Given the description of an element on the screen output the (x, y) to click on. 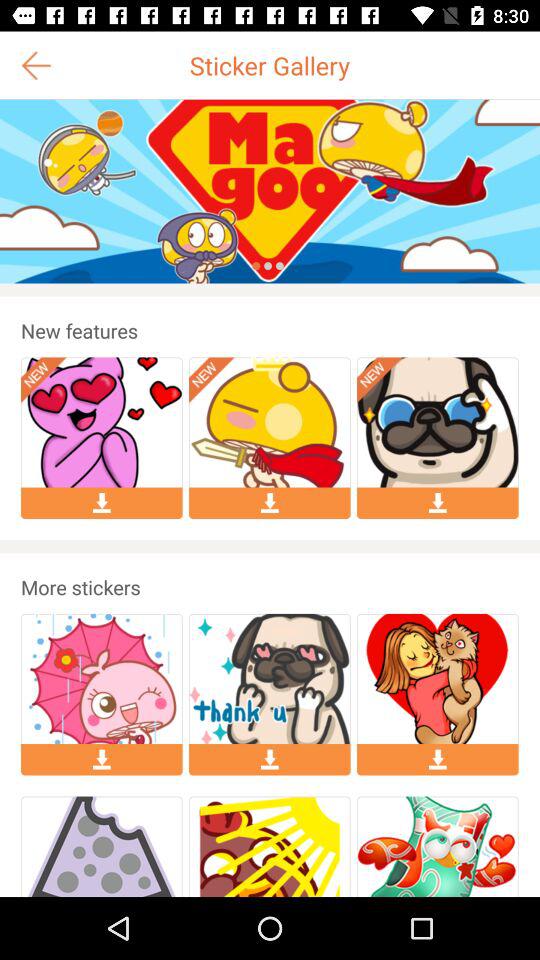
select the first row second image (270, 422)
select the last image of the page (437, 846)
select the first image under the text more stickers (102, 679)
go to the arrow below the first image under more stickers (101, 759)
select the first row third image in the more stickers category (437, 679)
select the 2nd new tag which is below new features on the page (211, 380)
click on the go back left arrow which is at the left top corner (36, 65)
